Given the description of an element on the screen output the (x, y) to click on. 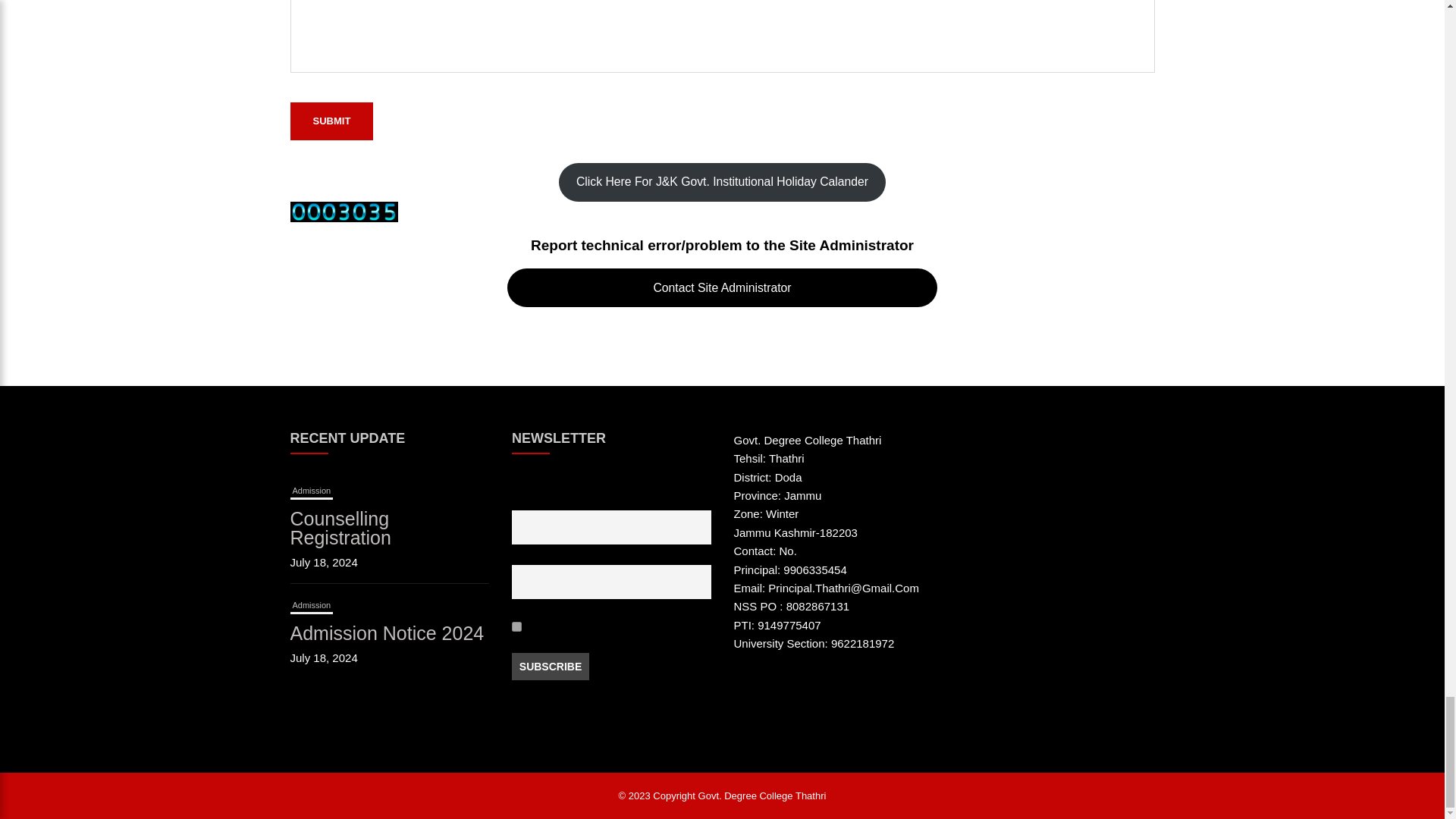
Submit (330, 121)
Subscribe (550, 666)
